Given the description of an element on the screen output the (x, y) to click on. 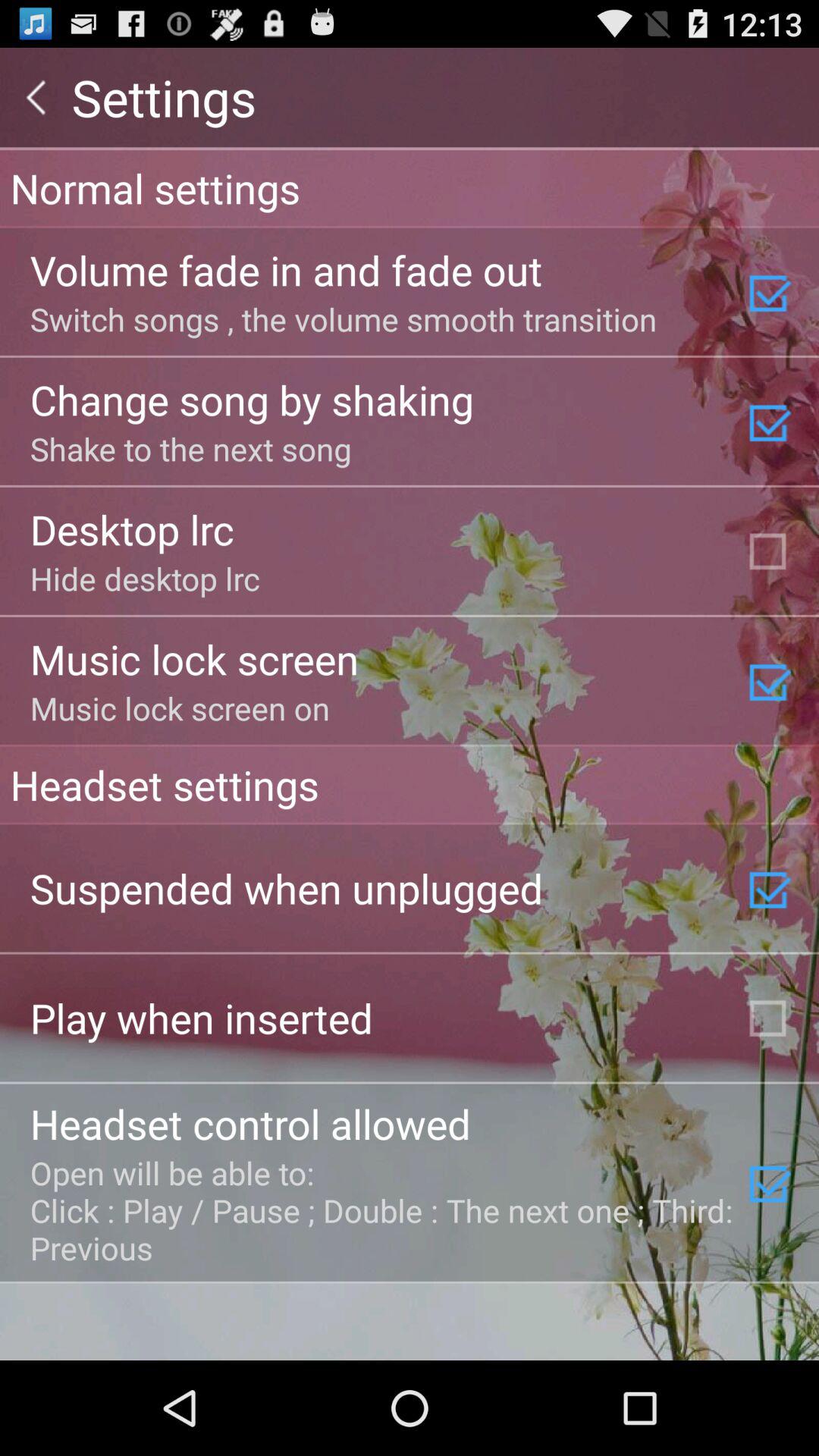
turn on the app below the normal settings icon (286, 269)
